Given the description of an element on the screen output the (x, y) to click on. 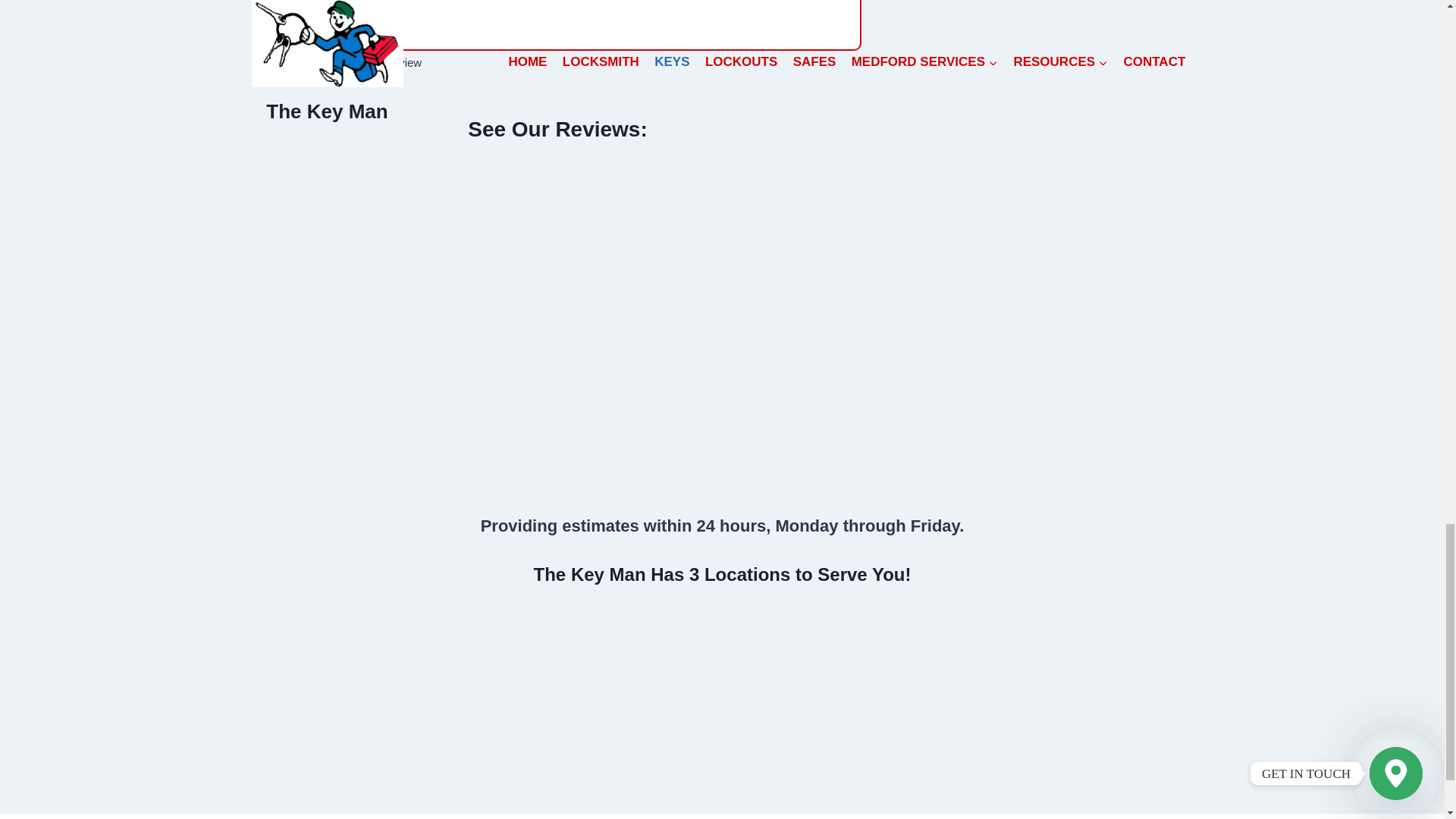
Todd P (319, 62)
